Given the description of an element on the screen output the (x, y) to click on. 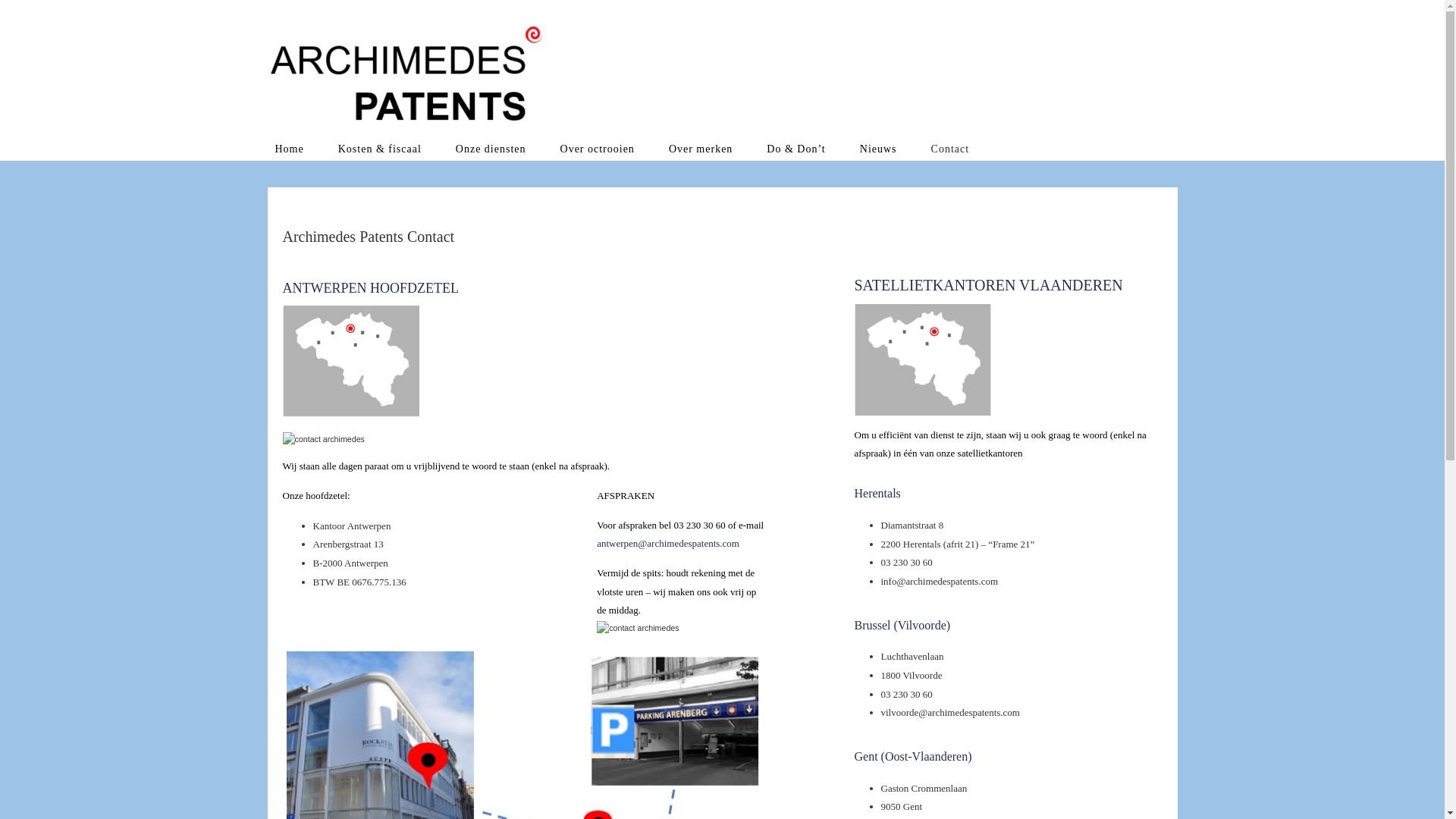
Nieuws Element type: text (878, 149)
Onze diensten Element type: text (490, 149)
Home Element type: text (288, 149)
octrooien archimedes patents Element type: hover (408, 74)
octrooien archimedes patents Element type: hover (408, 72)
antwerpen@archimedespatents.com Element type: text (667, 543)
Kosten & fiscaal Element type: text (379, 149)
Over merken Element type: text (700, 149)
Over octrooien Element type: text (597, 149)
Contact Element type: text (950, 149)
